Given the description of an element on the screen output the (x, y) to click on. 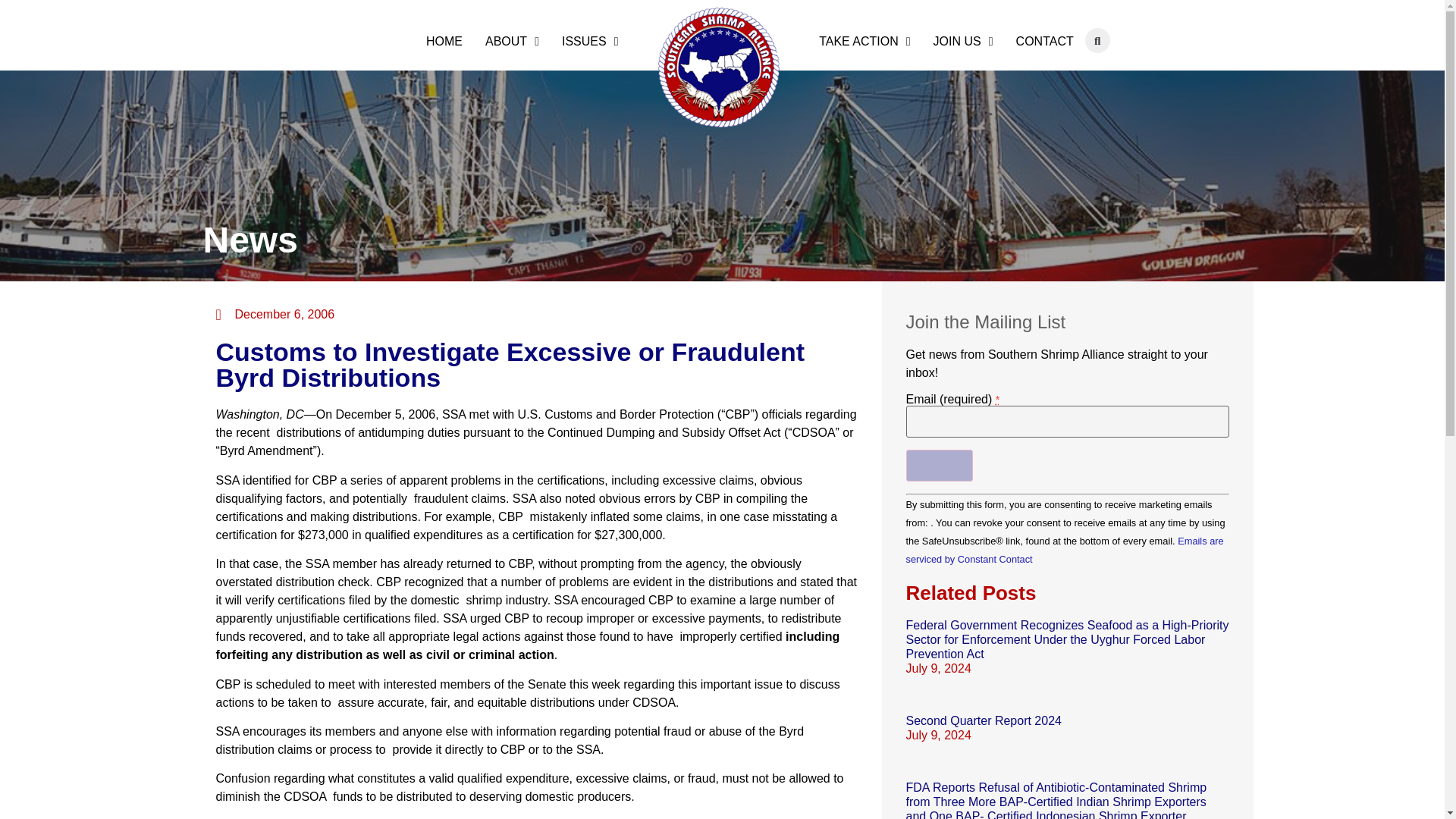
Sign up (938, 465)
